Given the description of an element on the screen output the (x, y) to click on. 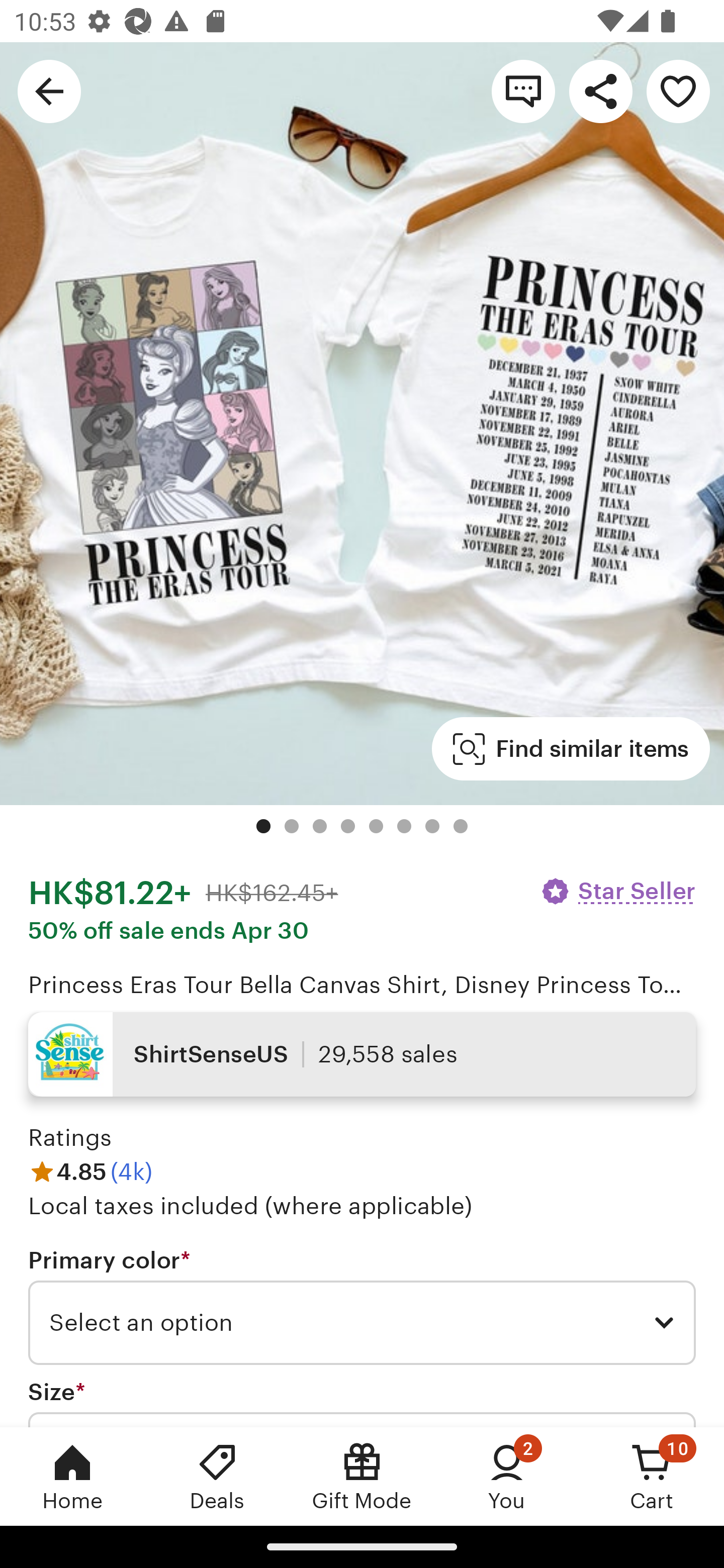
Navigate up (49, 90)
Contact shop (523, 90)
Share (600, 90)
Find similar items (571, 748)
Star Seller (617, 890)
ShirtSenseUS 29,558 sales (361, 1054)
Ratings (70, 1137)
4.85 (4k) (90, 1171)
Primary color * Required Select an option (361, 1306)
Select an option (361, 1323)
Size * Required Select an option (361, 1402)
Deals (216, 1475)
Gift Mode (361, 1475)
You, 2 new notifications You (506, 1475)
Cart, 10 new notifications Cart (651, 1475)
